Given the description of an element on the screen output the (x, y) to click on. 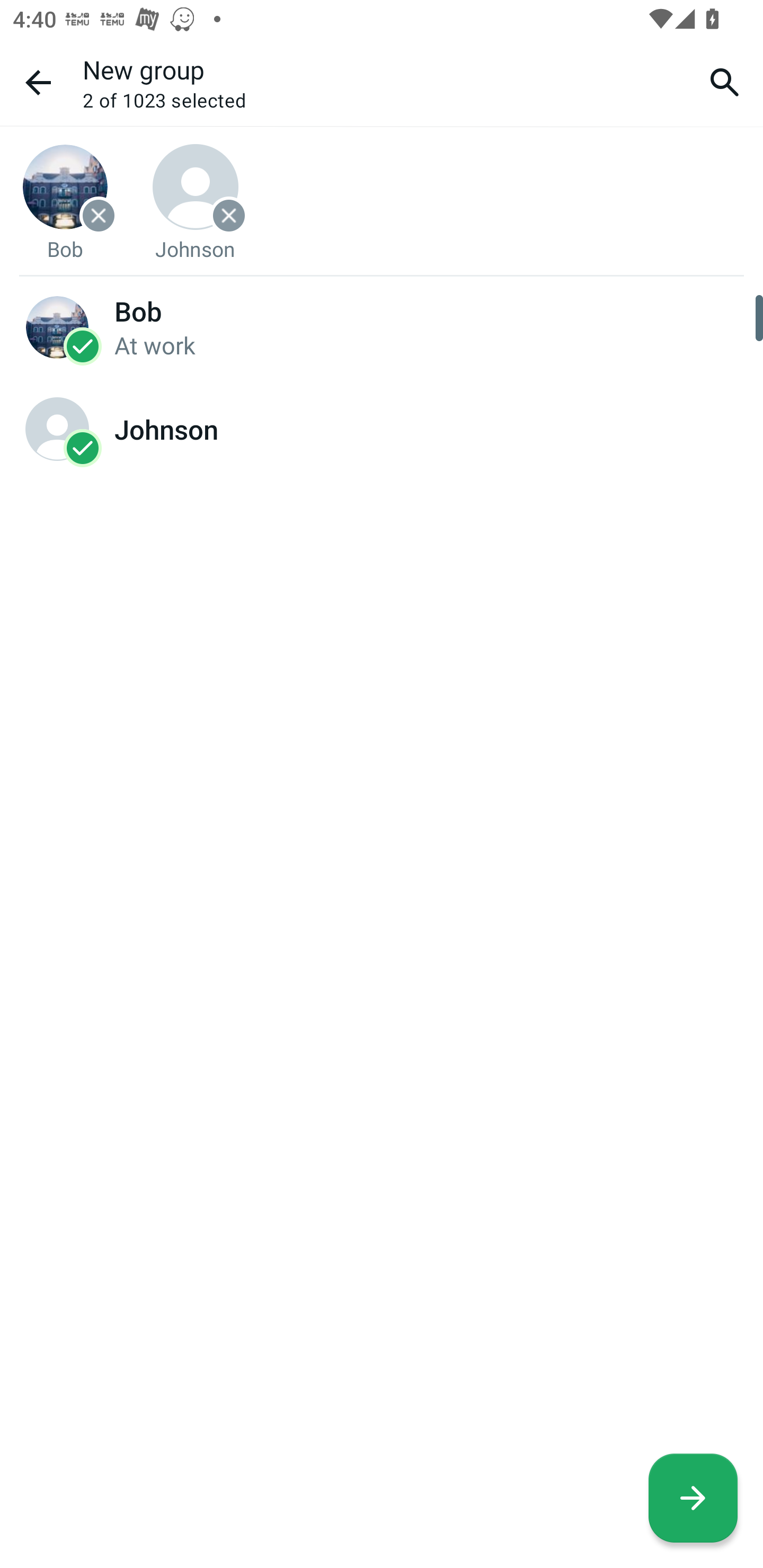
Navigate up (38, 82)
Search (724, 81)
Bob is selected Remove Bob (65, 202)
Johnson is selected Remove Johnson (195, 202)
Bob Selected Bob ‎At work (381, 326)
Johnson Selected Johnson (381, 428)
Next (692, 1497)
